Given the description of an element on the screen output the (x, y) to click on. 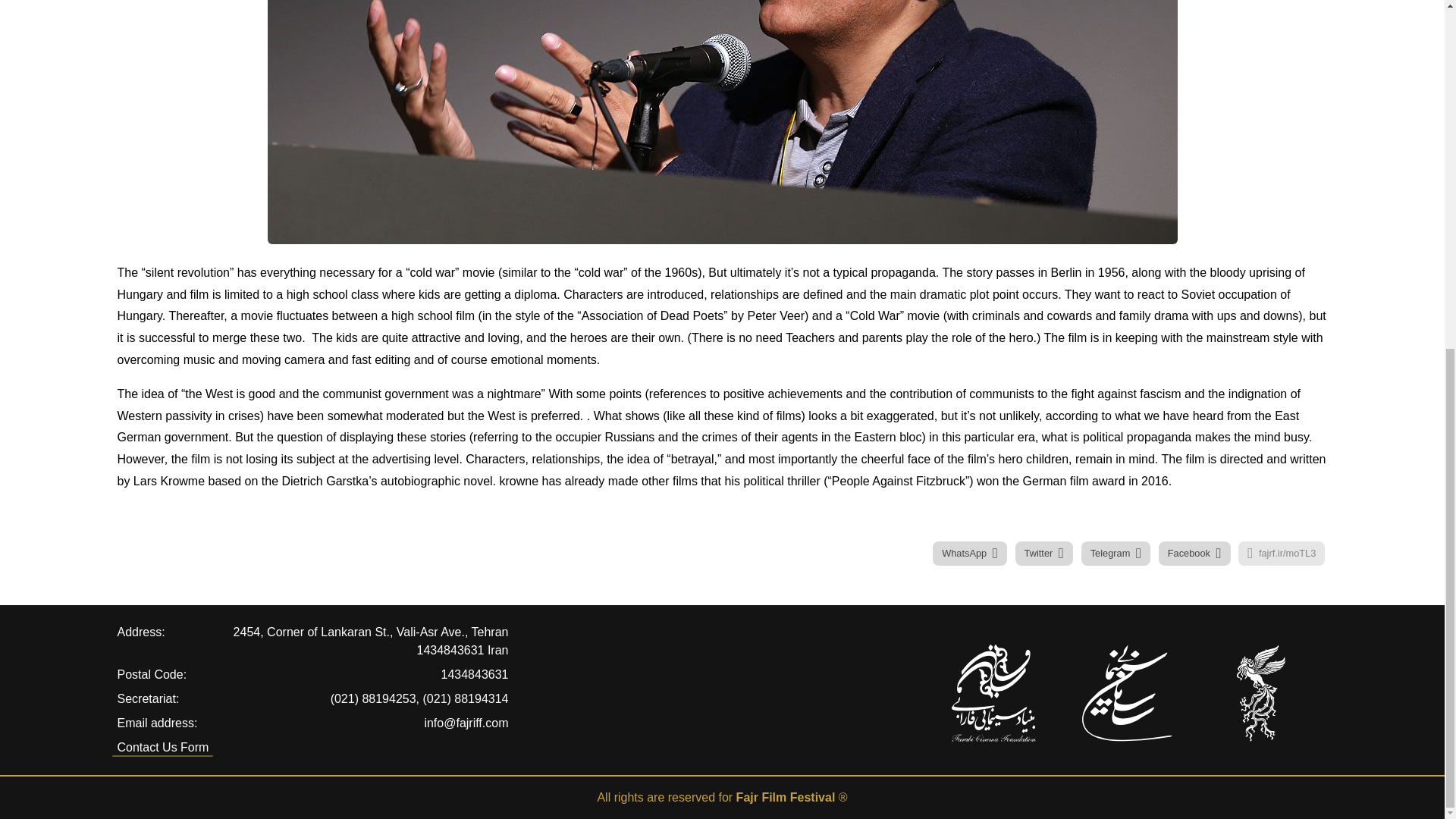
WhatsApp (970, 553)
41st Fajr International Film Festival (1259, 693)
Farabi Cinema Foundation (993, 693)
Iranian Organization of Cinema and Audiovisual Affairs (1126, 693)
